Given the description of an element on the screen output the (x, y) to click on. 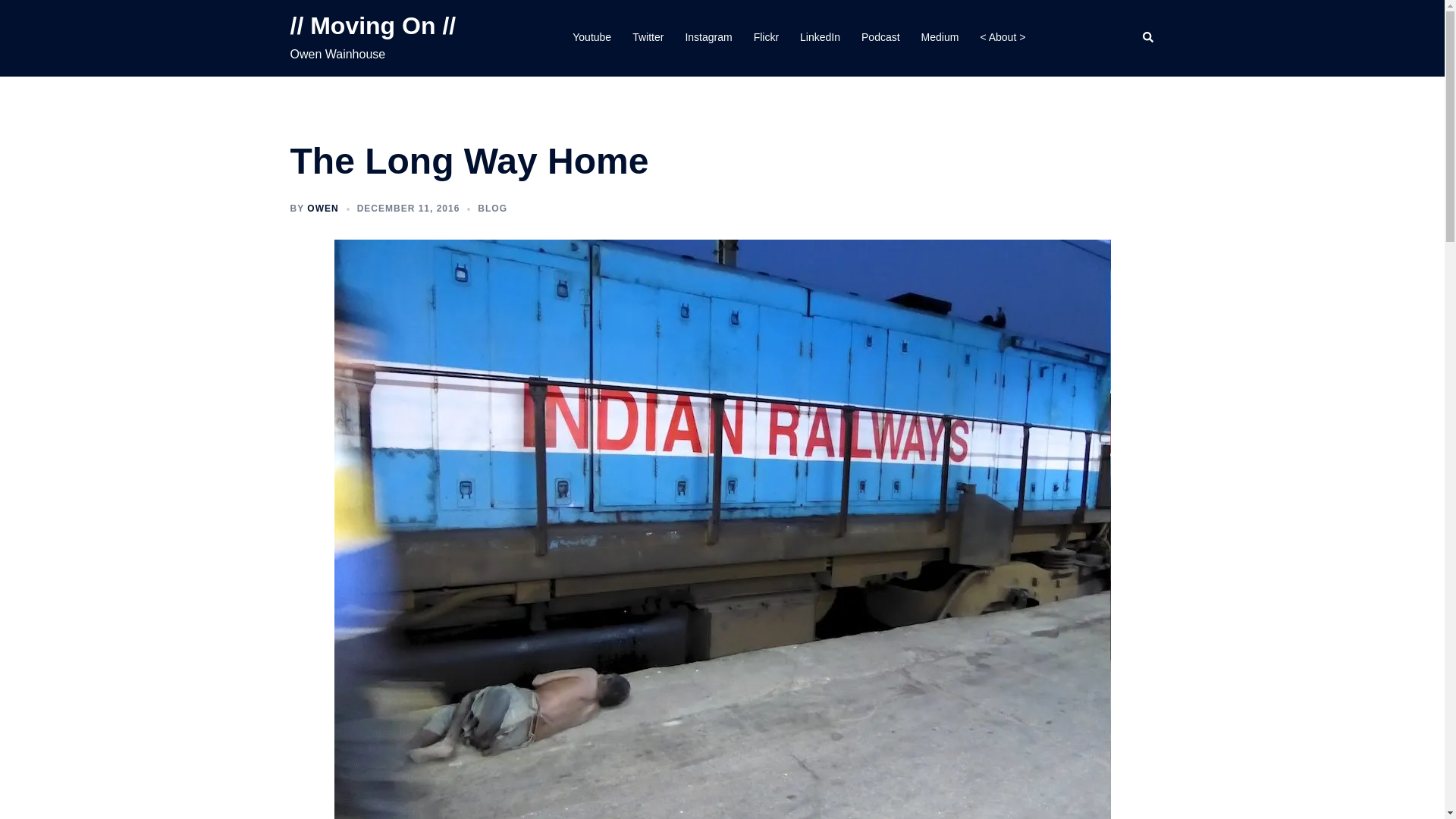
OWEN (322, 208)
Search (1147, 37)
LinkedIn (819, 37)
Podcast (880, 37)
BLOG (491, 208)
Instagram (708, 37)
Medium (940, 37)
Flickr (766, 37)
Youtube (591, 37)
Twitter (647, 37)
